Given the description of an element on the screen output the (x, y) to click on. 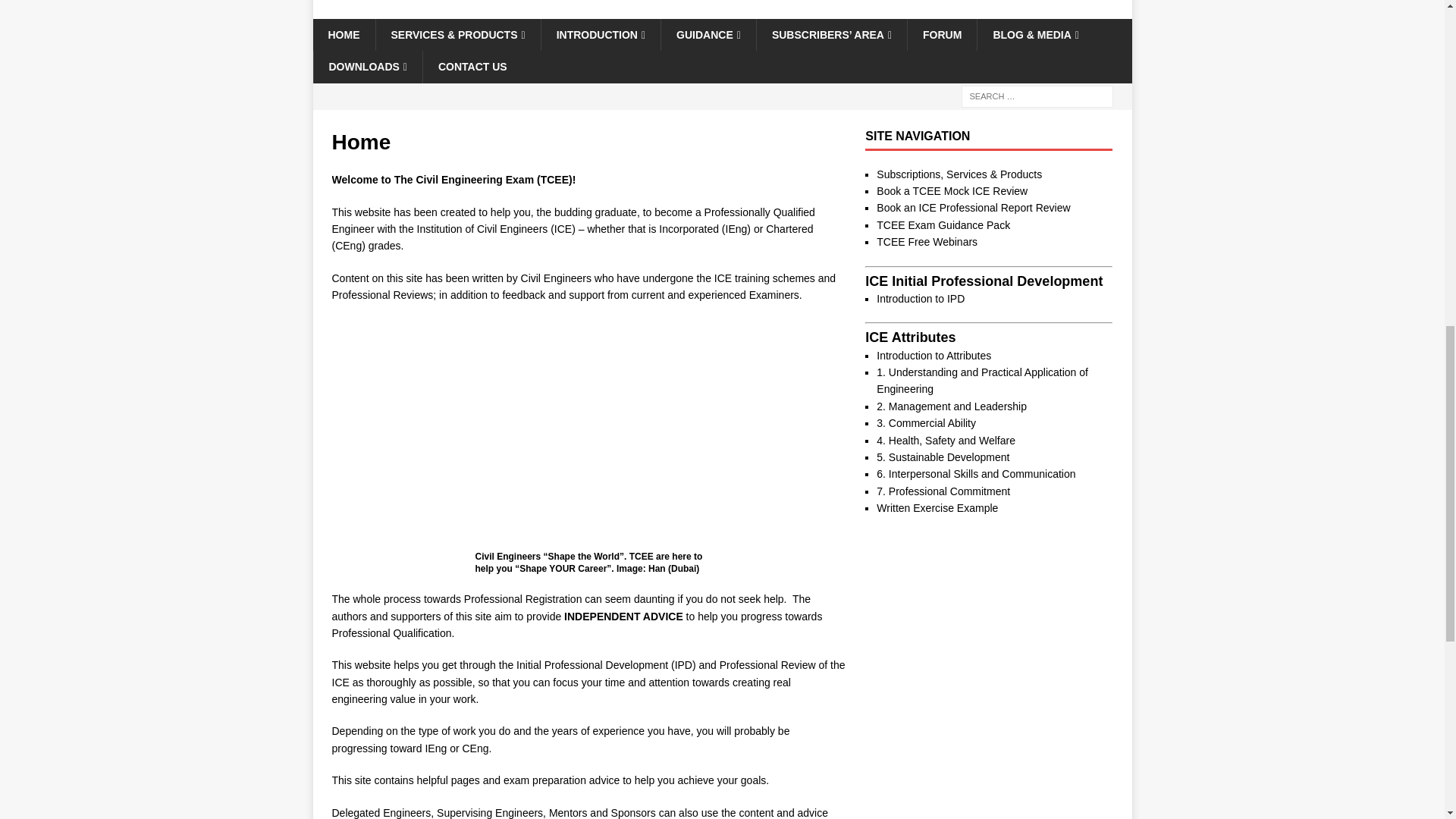
GUIDANCE (708, 34)
HOME (343, 34)
Book a TCEE Mock ICE Review (951, 191)
Book an ICE Professional Report Review (973, 207)
FORUM (941, 34)
INTRODUCTION (600, 34)
DOWNLOADS (367, 66)
CONTACT US (472, 66)
TCEE Exam Guidance Pack (943, 224)
